Given the description of an element on the screen output the (x, y) to click on. 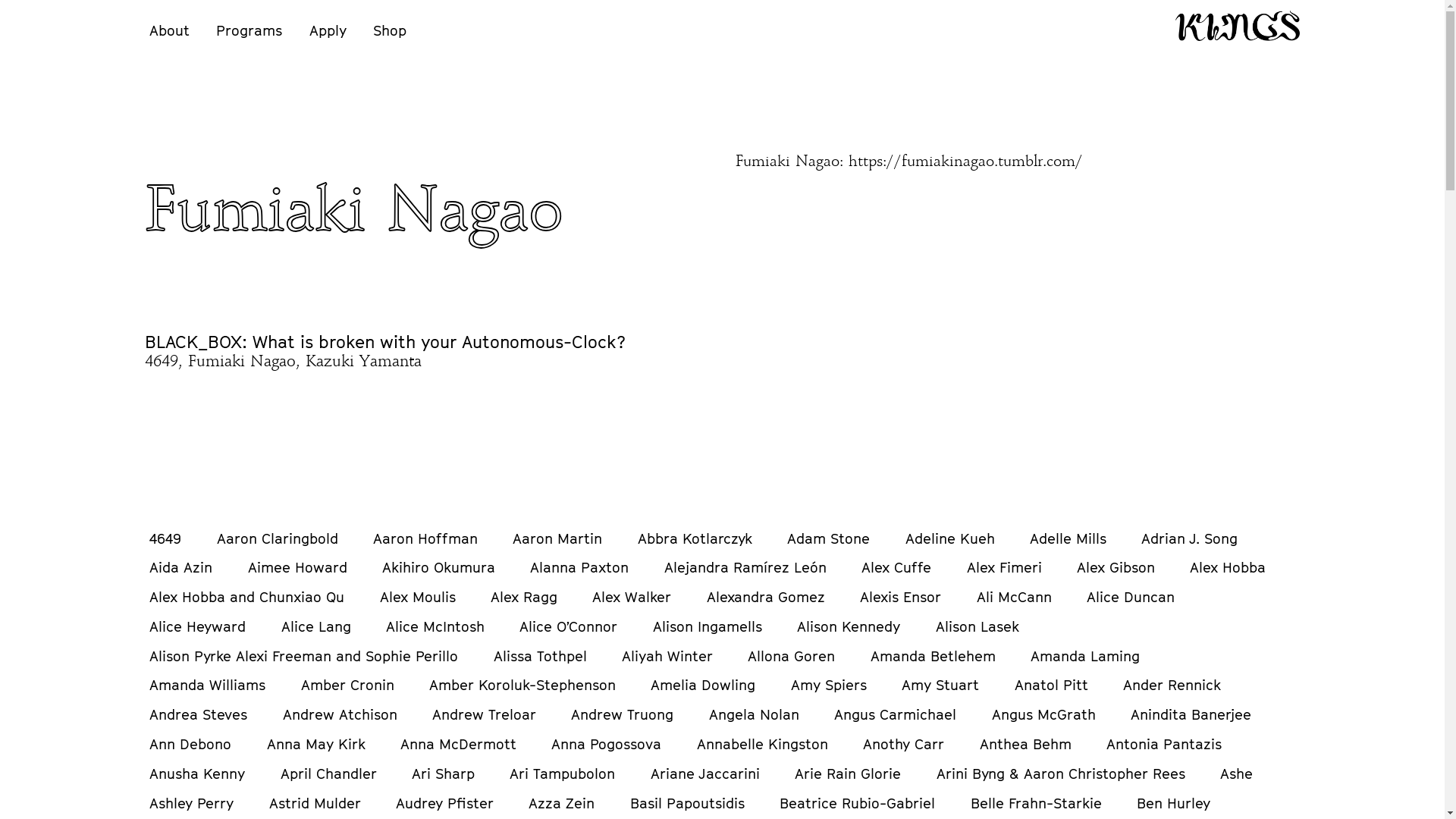
Aida Azin Element type: text (180, 566)
Alexandra Gomez Element type: text (765, 596)
Anothy Carr Element type: text (903, 743)
Beatrice Rubio-Gabriel Element type: text (857, 802)
Adam Stone Element type: text (828, 538)
Aaron Claringbold Element type: text (277, 538)
Belle Frahn-Starkie Element type: text (1035, 802)
Apply Element type: text (327, 29)
Allona Goren Element type: text (790, 655)
Angus McGrath Element type: text (1043, 714)
Alice Heyward Element type: text (197, 626)
About Element type: text (169, 29)
Adeline Kueh Element type: text (949, 538)
Anna McDermott Element type: text (458, 743)
Anna Pogossova Element type: text (606, 743)
Amanda Laming Element type: text (1084, 655)
Abbra Kotlarczyk Element type: text (694, 538)
Ann Debono Element type: text (190, 743)
Arie Rain Glorie Element type: text (847, 773)
Audrey Pfister Element type: text (444, 802)
Amy Spiers Element type: text (828, 684)
Alex Moulis Element type: text (417, 596)
Antonia Pantazis Element type: text (1163, 743)
Alissa Tothpel Element type: text (539, 655)
Andrea Steves Element type: text (198, 714)
Ari Tampubolon Element type: text (562, 773)
Basil Papoutsidis Element type: text (687, 802)
April Chandler Element type: text (328, 773)
Ben Hurley Element type: text (1173, 802)
Amber Koroluk-Stephenson Element type: text (522, 684)
Alex Fimeri Element type: text (1003, 566)
Andrew Treloar Element type: text (484, 714)
Alex Cuffe Element type: text (896, 566)
Angela Nolan Element type: text (754, 714)
Ari Sharp Element type: text (442, 773)
Shop Element type: text (389, 29)
Alex Gibson Element type: text (1115, 566)
Ariane Jaccarini Element type: text (704, 773)
Ander Rennick Element type: text (1171, 684)
Amanda Williams Element type: text (207, 684)
Anna May Kirk Element type: text (315, 743)
Akihiro Okumura Element type: text (438, 566)
Alice Lang Element type: text (316, 626)
Adrian J. Song Element type: text (1189, 538)
Ashley Perry Element type: text (191, 802)
Adelle Mills Element type: text (1067, 538)
Alice McIntosh Element type: text (434, 626)
Anusha Kenny Element type: text (196, 773)
Amelia Dowling Element type: text (702, 684)
Aliyah Winter Element type: text (666, 655)
Ali McCann Element type: text (1013, 596)
Azza Zein Element type: text (561, 802)
Alexis Ensor Element type: text (900, 596)
Programs Element type: text (249, 29)
Alex Hobba and Chunxiao Qu Element type: text (246, 596)
Alanna Paxton Element type: text (579, 566)
Alice Duncan Element type: text (1130, 596)
Astrid Mulder Element type: text (314, 802)
Anatol Pitt Element type: text (1051, 684)
Amanda Betlehem Element type: text (932, 655)
Alison Lasek Element type: text (977, 626)
Aimee Howard Element type: text (297, 566)
Alex Walker Element type: text (631, 596)
Ashe Element type: text (1236, 773)
Andrew Atchison Element type: text (339, 714)
Alex Hobba Element type: text (1227, 566)
Aaron Hoffman Element type: text (425, 538)
Amber Cronin Element type: text (347, 684)
Anindita Banerjee Element type: text (1190, 714)
Aaron Martin Element type: text (557, 538)
Angus Carmichael Element type: text (895, 714)
Alison Ingamells Element type: text (707, 626)
Arini Byng & Aaron Christopher Rees Element type: text (1060, 773)
4649 Element type: text (165, 538)
Alex Ragg Element type: text (523, 596)
Anthea Behm Element type: text (1025, 743)
Alison Pyrke Alexi Freeman and Sophie Perillo Element type: text (303, 655)
Andrew Truong Element type: text (622, 714)
Amy Stuart Element type: text (940, 684)
Alison Kennedy Element type: text (848, 626)
Annabelle Kingston Element type: text (762, 743)
